Given the description of an element on the screen output the (x, y) to click on. 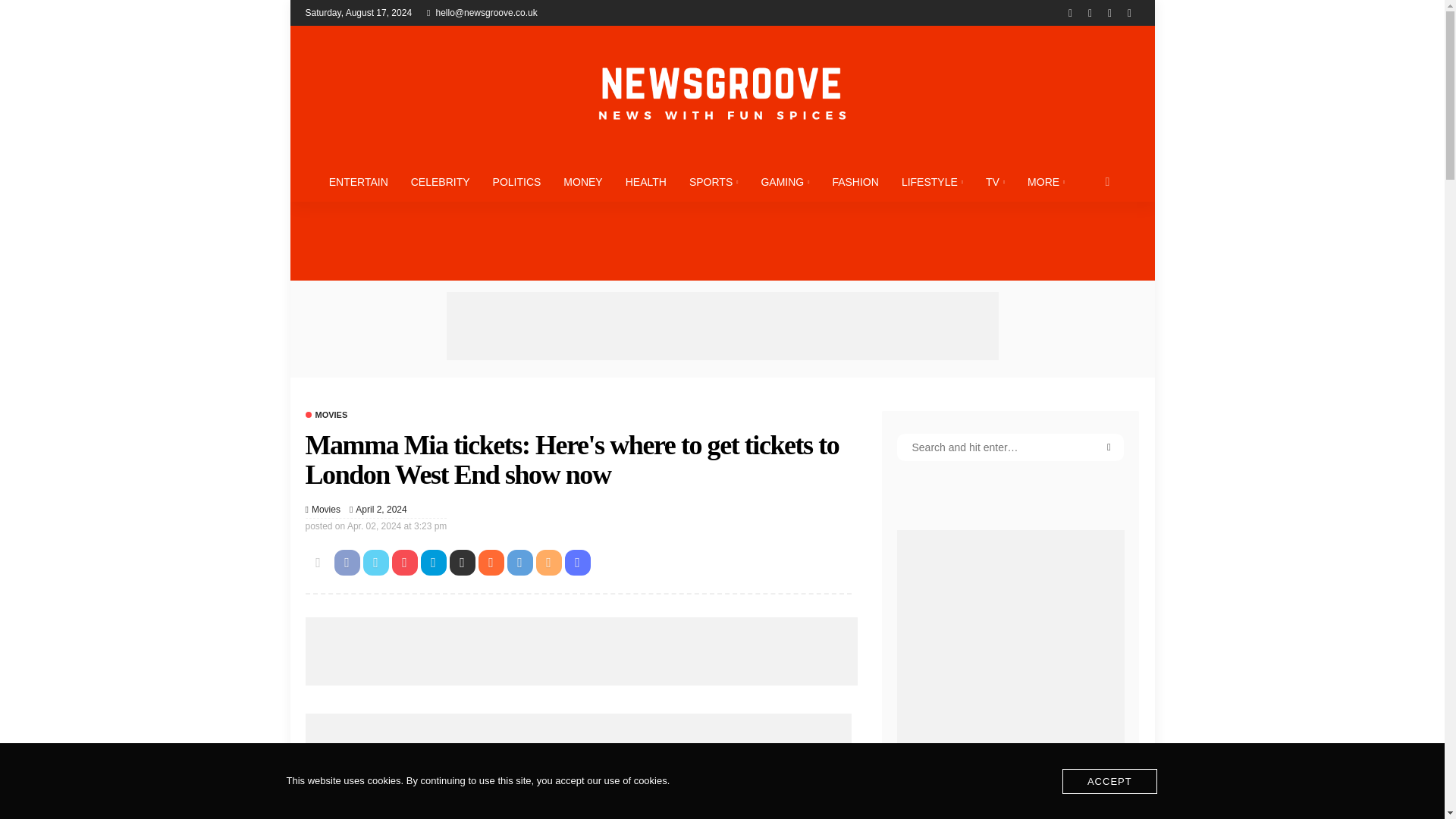
GAMING (785, 181)
HEALTH (646, 181)
CELEBRITY (439, 181)
Movies (325, 509)
ENTERTAIN (357, 181)
NewsGroove Uk (721, 93)
POLITICS (517, 181)
MONEY (581, 181)
Movies (325, 415)
search (1106, 181)
